Given the description of an element on the screen output the (x, y) to click on. 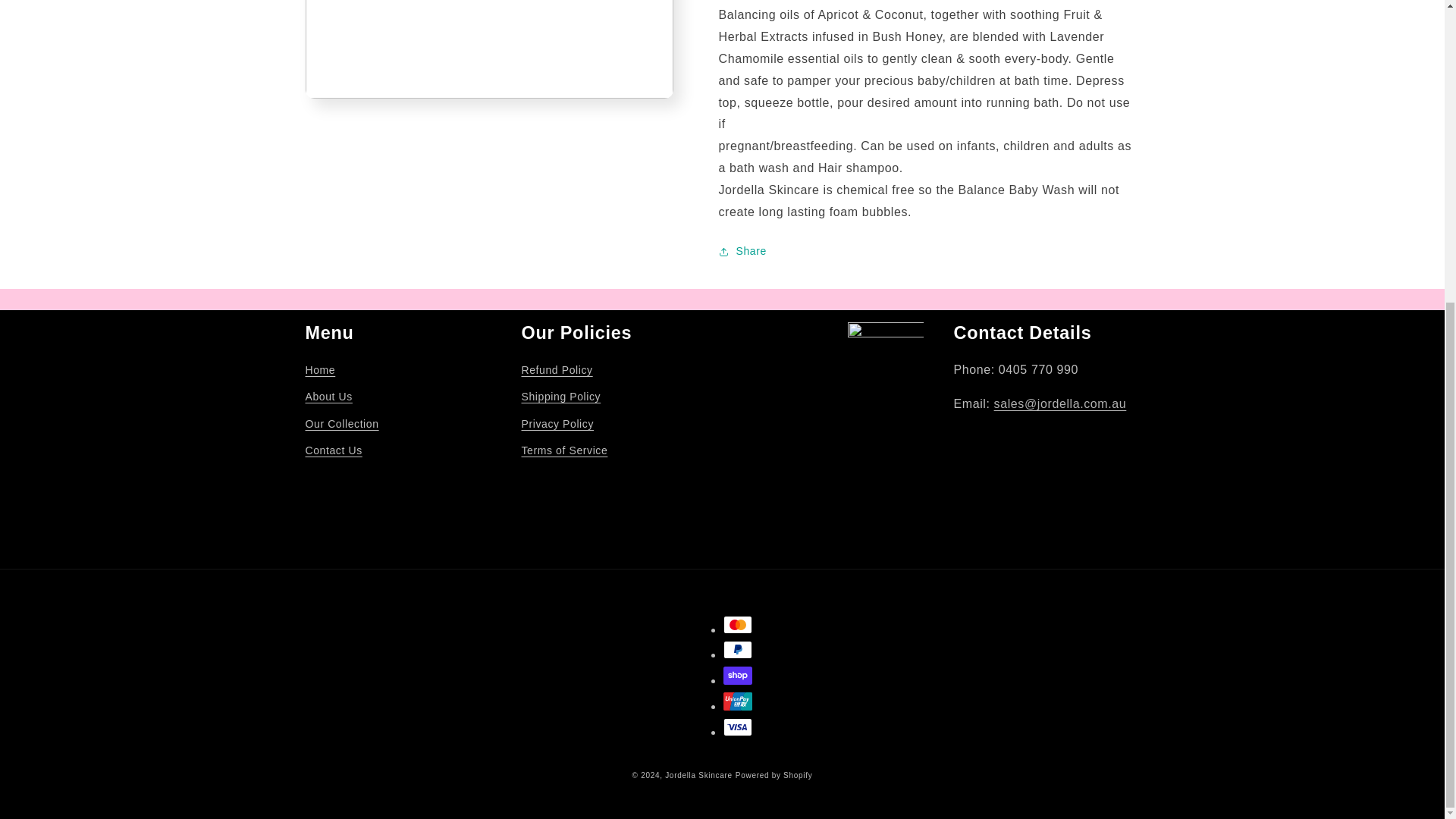
Shop Pay (737, 675)
Mastercard (737, 624)
Visa (737, 727)
PayPal (737, 649)
Union Pay (737, 701)
